Given the description of an element on the screen output the (x, y) to click on. 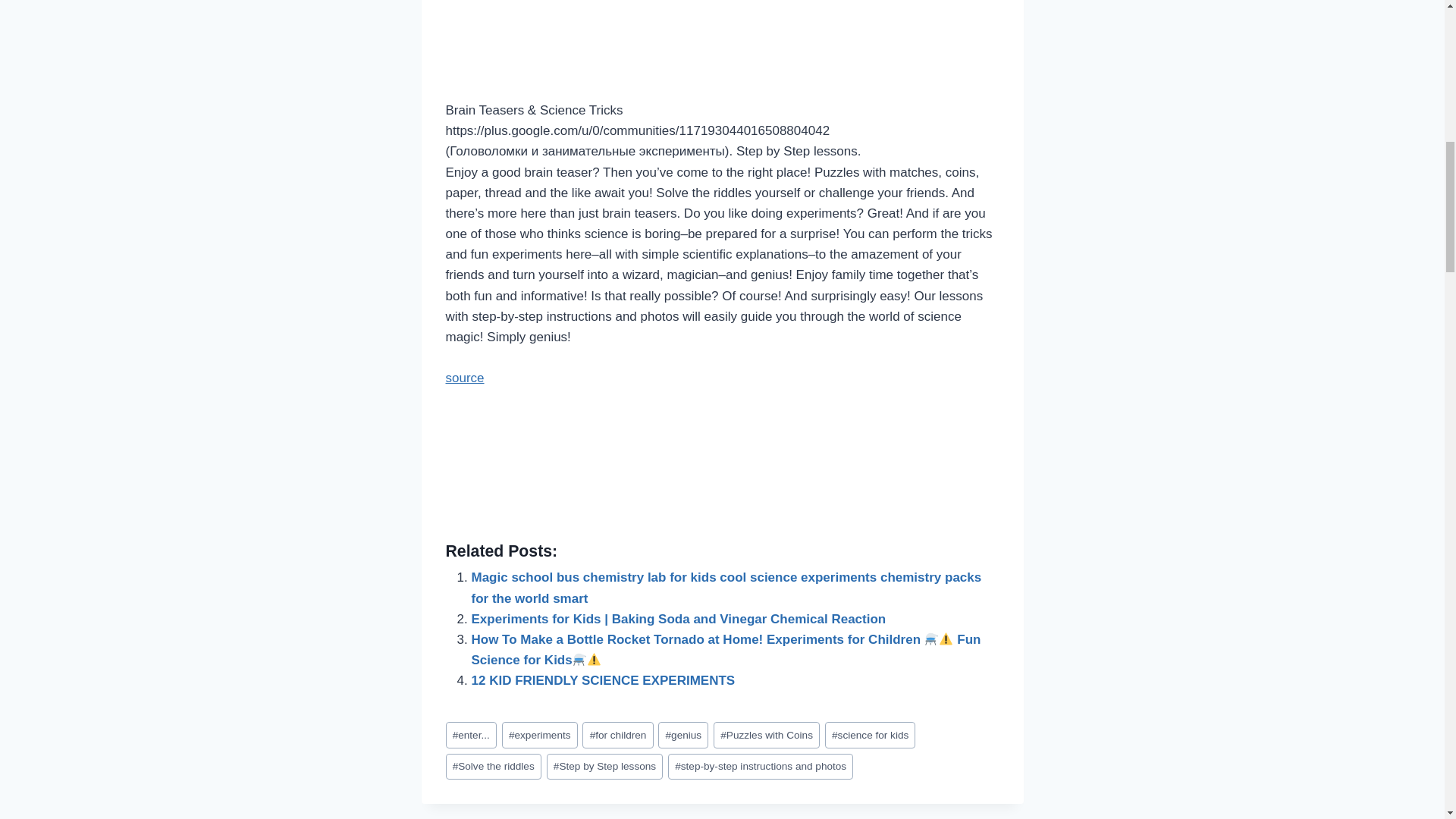
Step by Step lessons (605, 766)
source (464, 377)
enter... (470, 734)
12 KID FRIENDLY SCIENCE EXPERIMENTS (603, 680)
Puzzles with Coins (766, 734)
GetYourGuide Widget (721, 470)
12 KID FRIENDLY SCIENCE EXPERIMENTS (603, 680)
for children (617, 734)
step-by-step instructions and photos (760, 766)
Solve the riddles (493, 766)
genius (682, 734)
experiments (540, 734)
science for kids (870, 734)
